Given the description of an element on the screen output the (x, y) to click on. 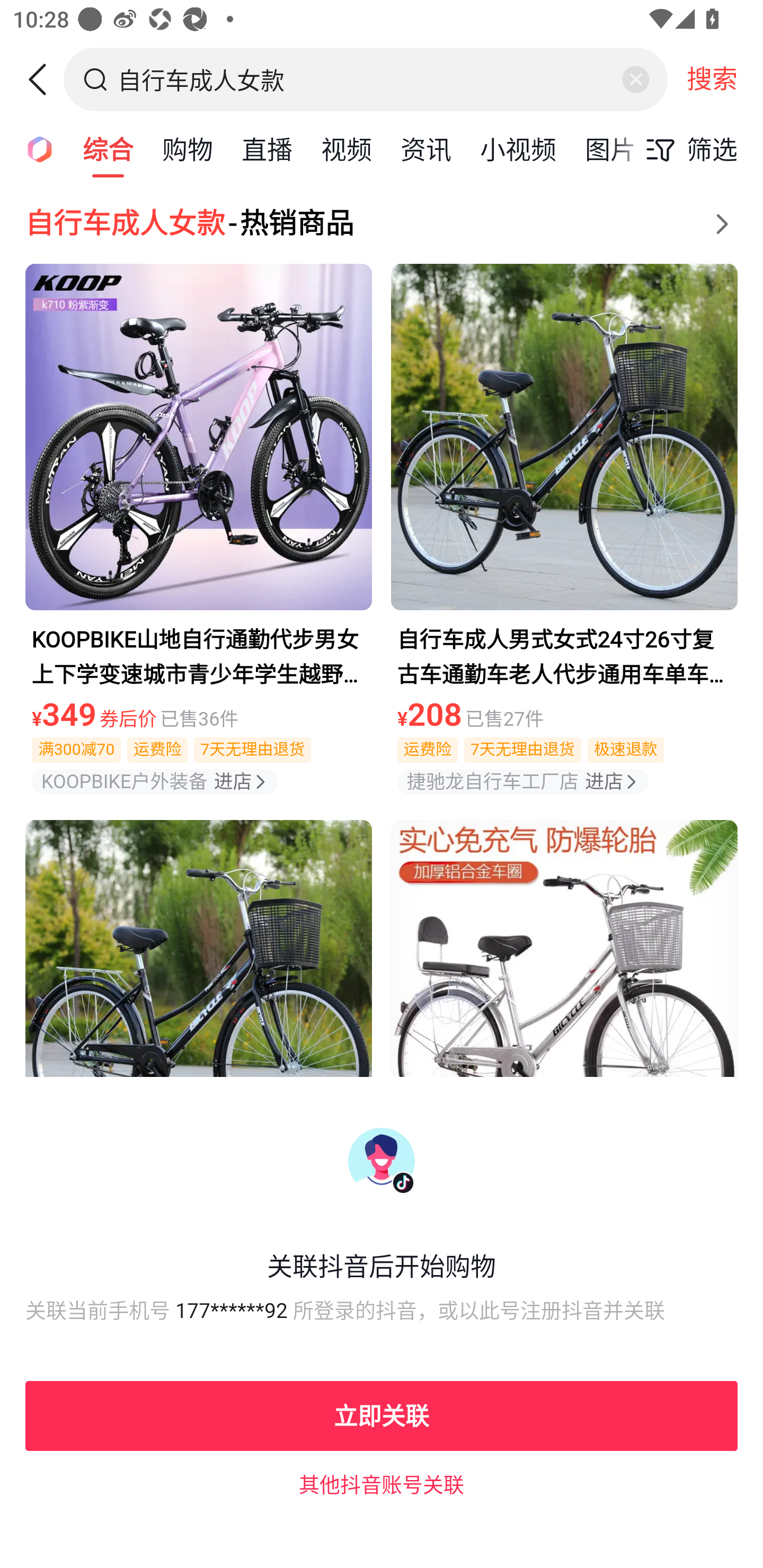
立即关联 (381, 1415)
其他抖音账号关联 (381, 1483)
